Given the description of an element on the screen output the (x, y) to click on. 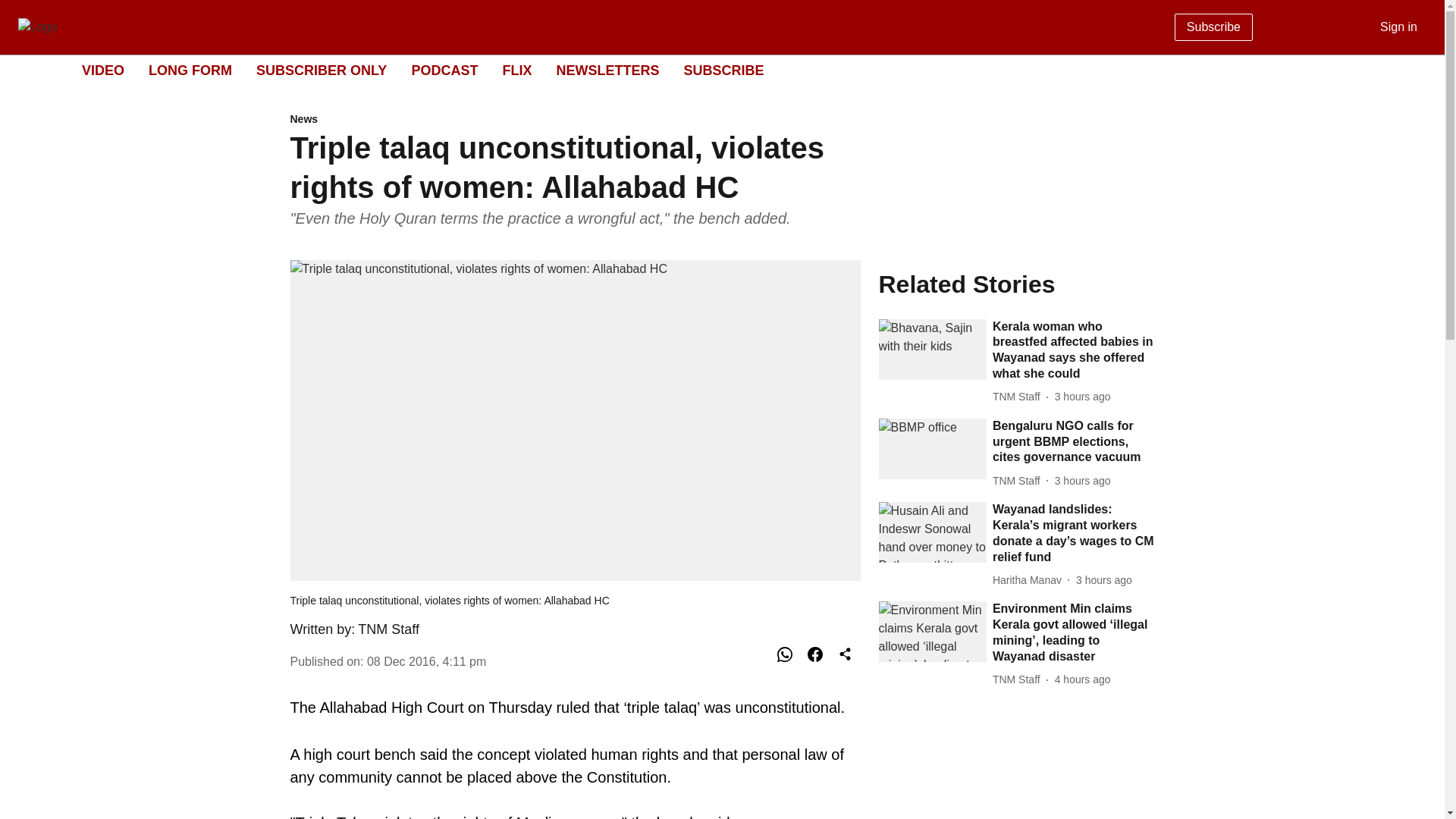
Dark Mode (1415, 70)
LONG FORM (189, 70)
2024-08-05 11:52 (1082, 679)
SUBSCRIBER ONLY (321, 70)
2024-08-05 12:55 (1103, 580)
2024-08-05 13:31 (1082, 396)
News (574, 119)
FLIX (516, 70)
2016-12-08 08:11 (426, 661)
TNM Staff (1019, 396)
NEWSLETTERS (607, 70)
PODCAST (443, 70)
